Given the description of an element on the screen output the (x, y) to click on. 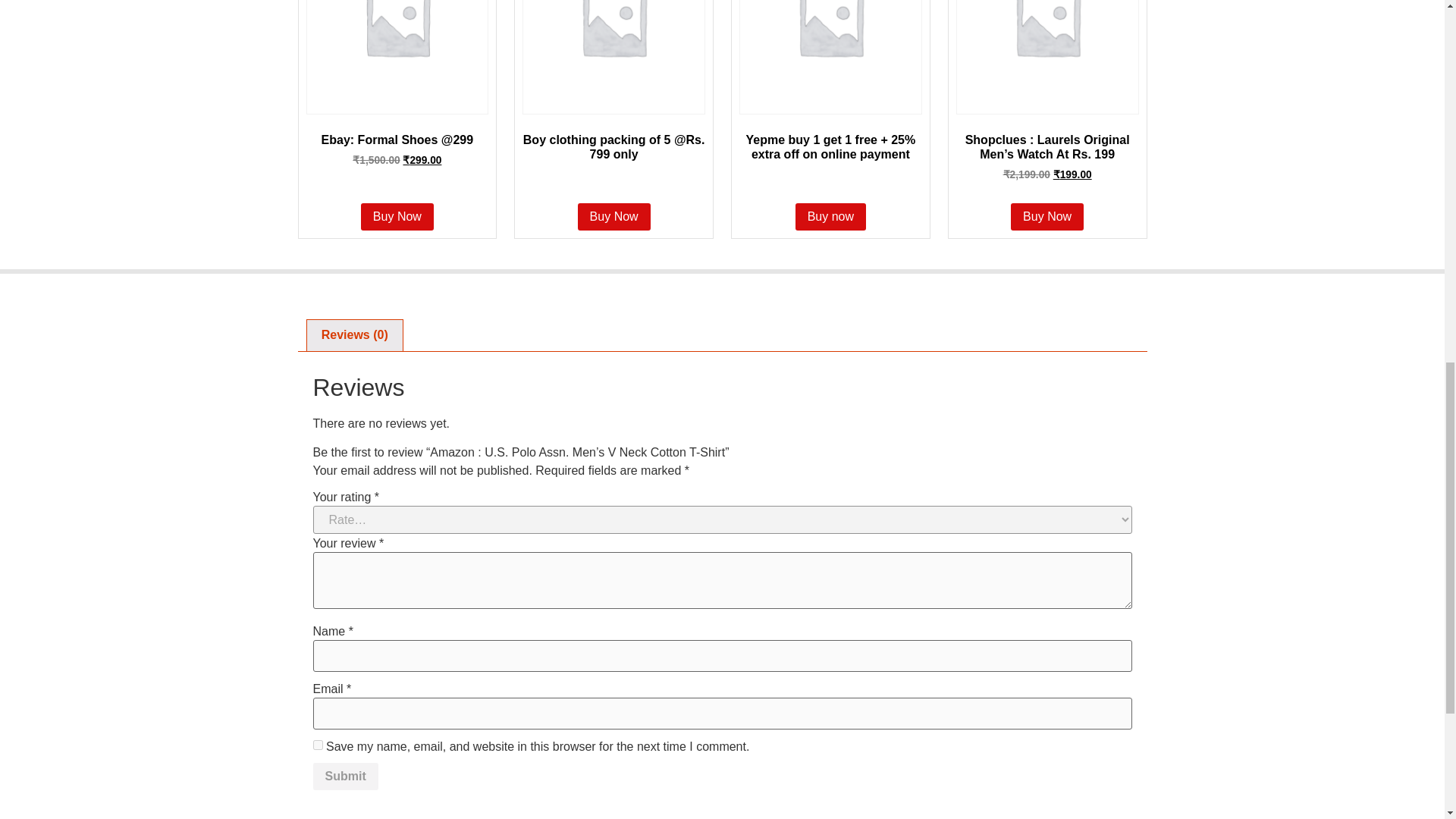
yes (317, 745)
Submit (345, 776)
